Given the description of an element on the screen output the (x, y) to click on. 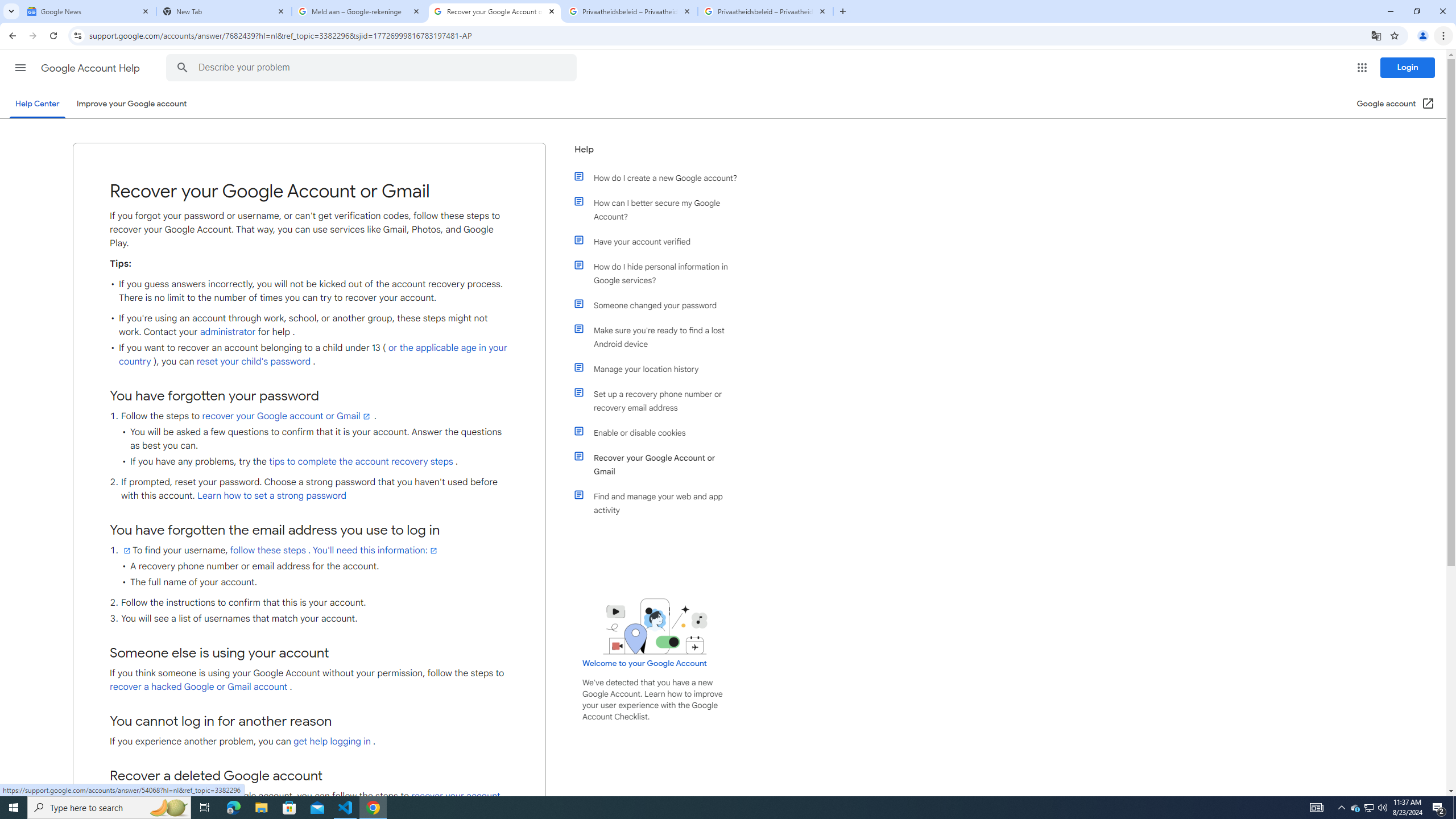
Recover your Google Account or Gmail - Google Account Help (494, 11)
Google Account Help (91, 68)
administrator (227, 331)
How do I create a new Google account? (661, 177)
Recover your Google Account or Gmail (661, 464)
Translate this page (1376, 35)
Have your account verified (661, 241)
